Given the description of an element on the screen output the (x, y) to click on. 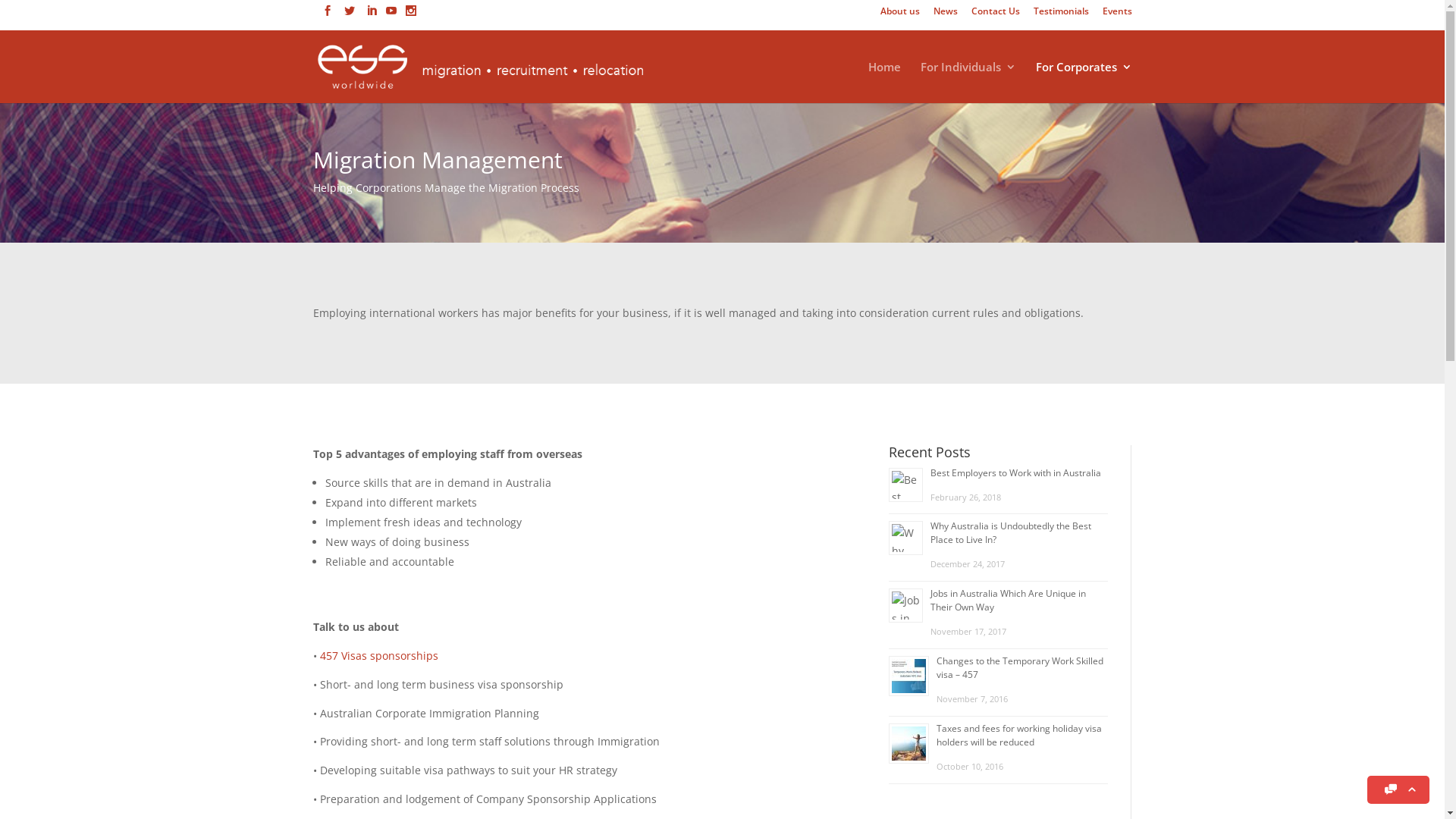
Contact Us Element type: text (994, 14)
Best Employers to Work with in Australia Element type: text (1015, 472)
Why Australia is Undoubtedly the Best Place to Live In? Element type: text (1010, 532)
457 Visas sponsorships Element type: text (379, 655)
Testimonials Element type: text (1060, 14)
Events Element type: text (1117, 14)
Home Element type: text (883, 82)
News Element type: text (944, 14)
For Corporates Element type: text (1083, 82)
About us Element type: text (899, 14)
For Individuals Element type: text (968, 82)
Jobs in Australia Which Are Unique in Their Own Way Element type: text (1007, 599)
